Given the description of an element on the screen output the (x, y) to click on. 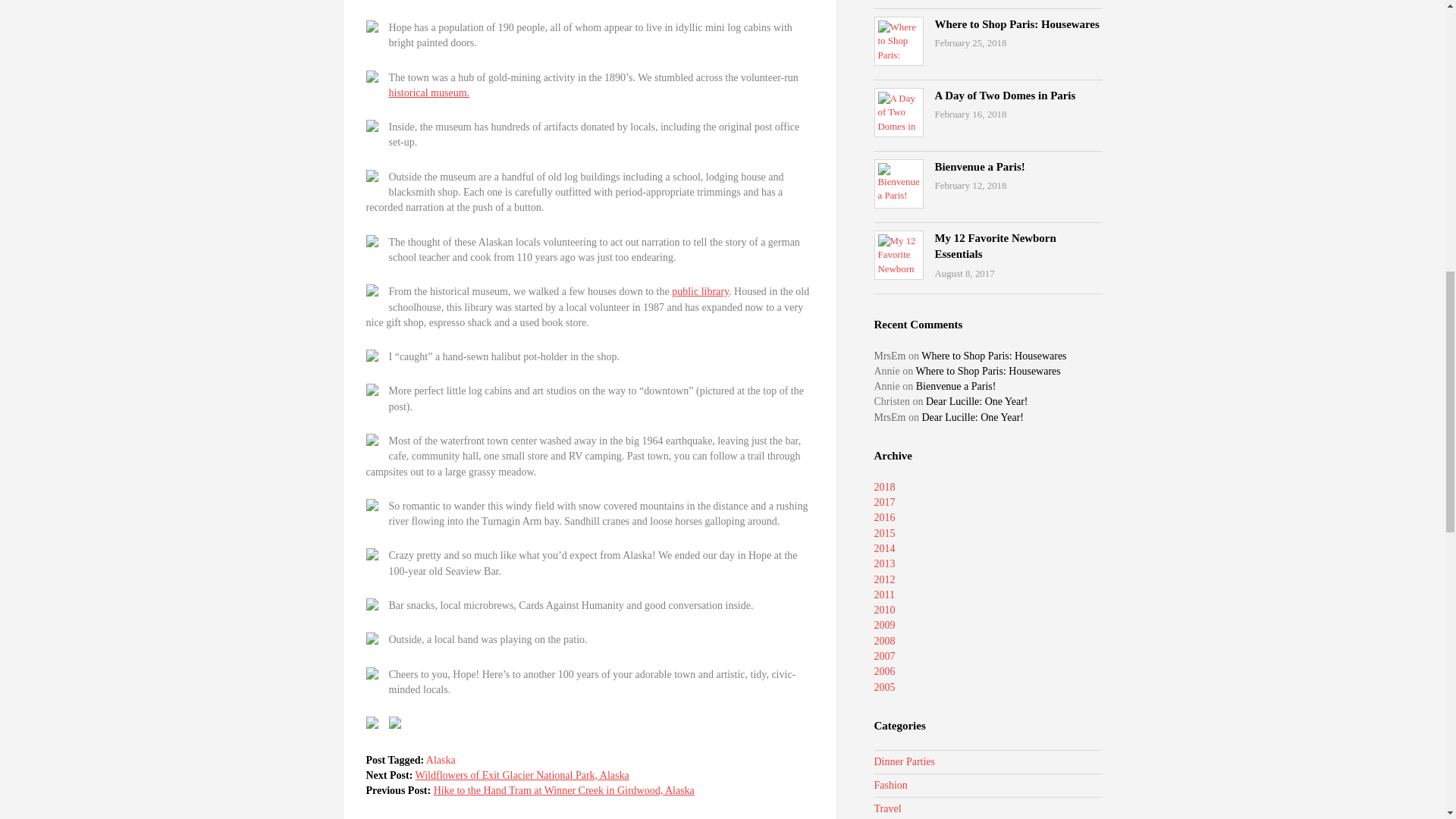
Wildflowers of Exit Glacier National Park, Alaska (521, 775)
historical museum. (428, 92)
Hike to the Hand Tram at Winner Creek in Girdwood, Alaska (563, 790)
Alaska (440, 759)
public library (700, 291)
